Given the description of an element on the screen output the (x, y) to click on. 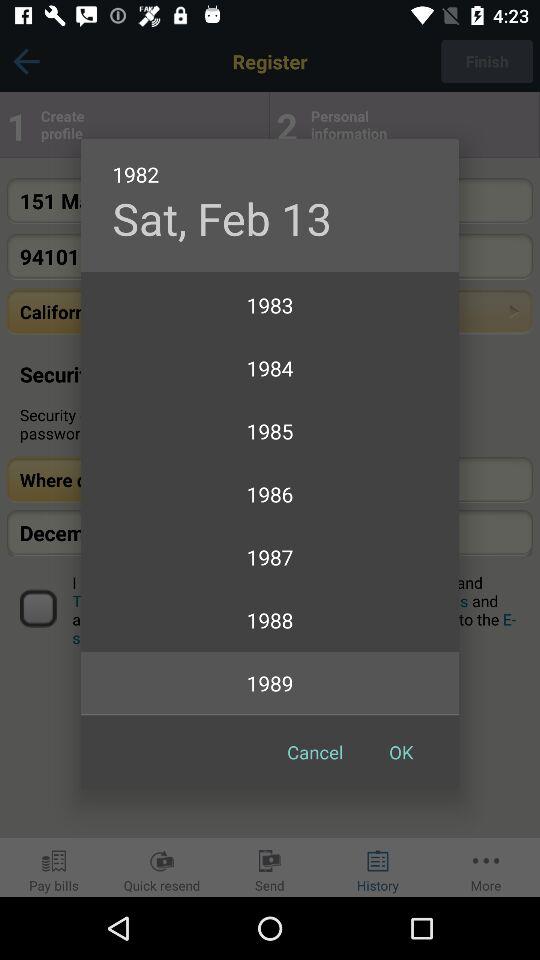
click the item above the 1982 app (221, 218)
